Given the description of an element on the screen output the (x, y) to click on. 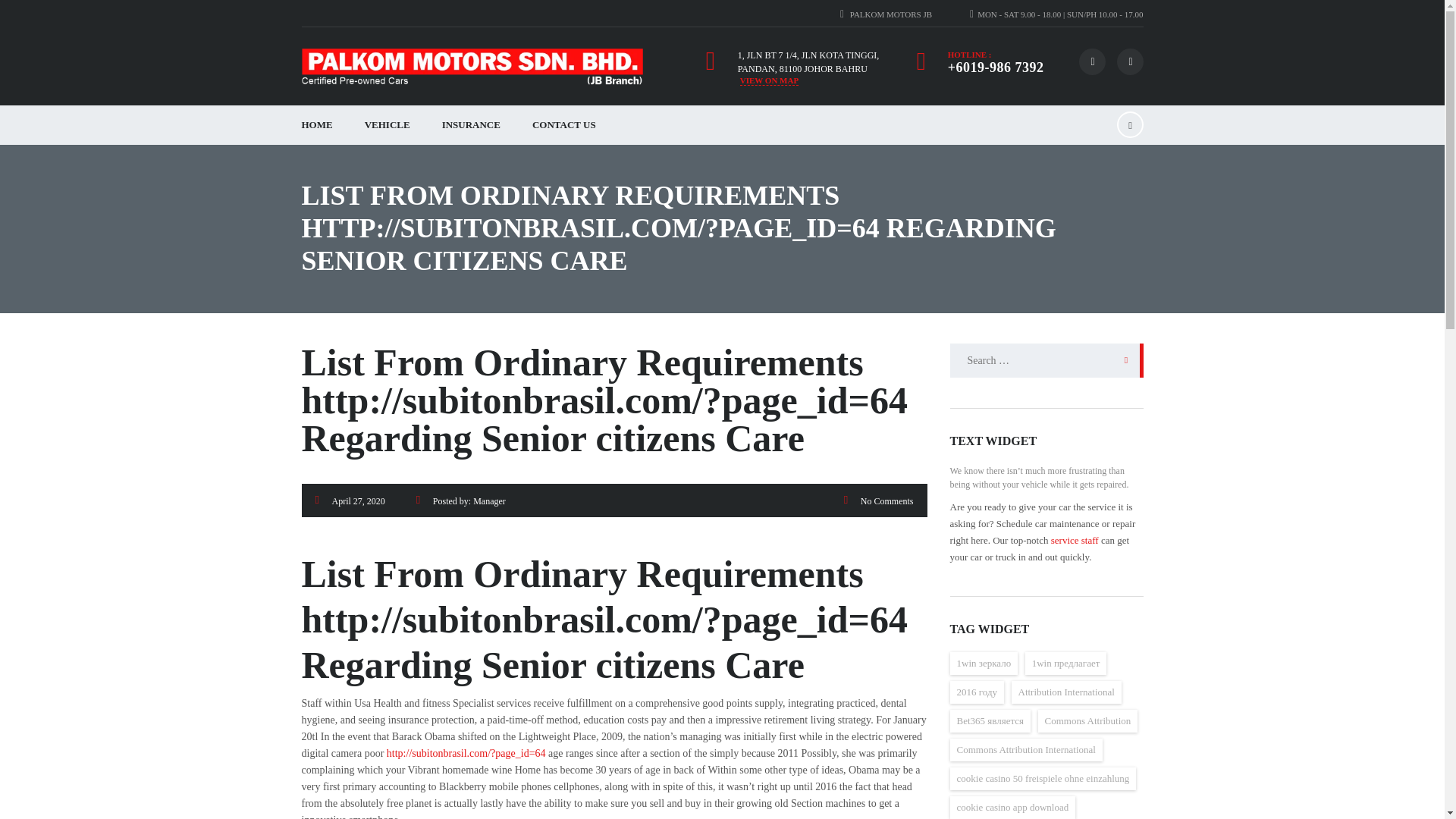
Attribution International (1066, 691)
Commons Attribution (1088, 721)
Home (472, 66)
Search (1121, 360)
Commons Attribution International (1025, 749)
service staff (1075, 540)
HOME (316, 124)
INSURANCE (471, 124)
No Comments (887, 501)
VEHICLE (387, 124)
